Given the description of an element on the screen output the (x, y) to click on. 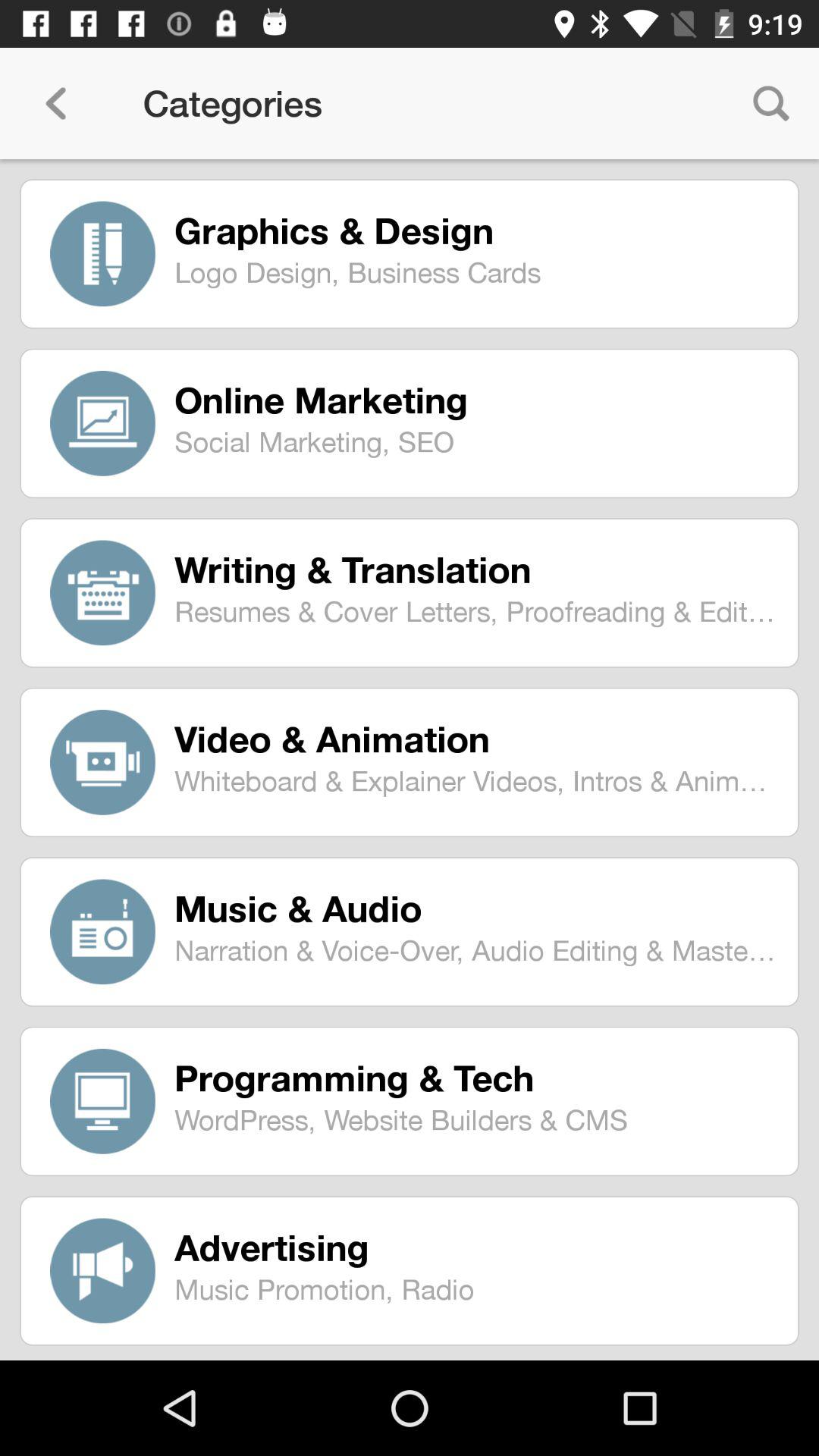
select the tv option  programming  tech (102, 1101)
go to radio image  below video and information (102, 931)
